Given the description of an element on the screen output the (x, y) to click on. 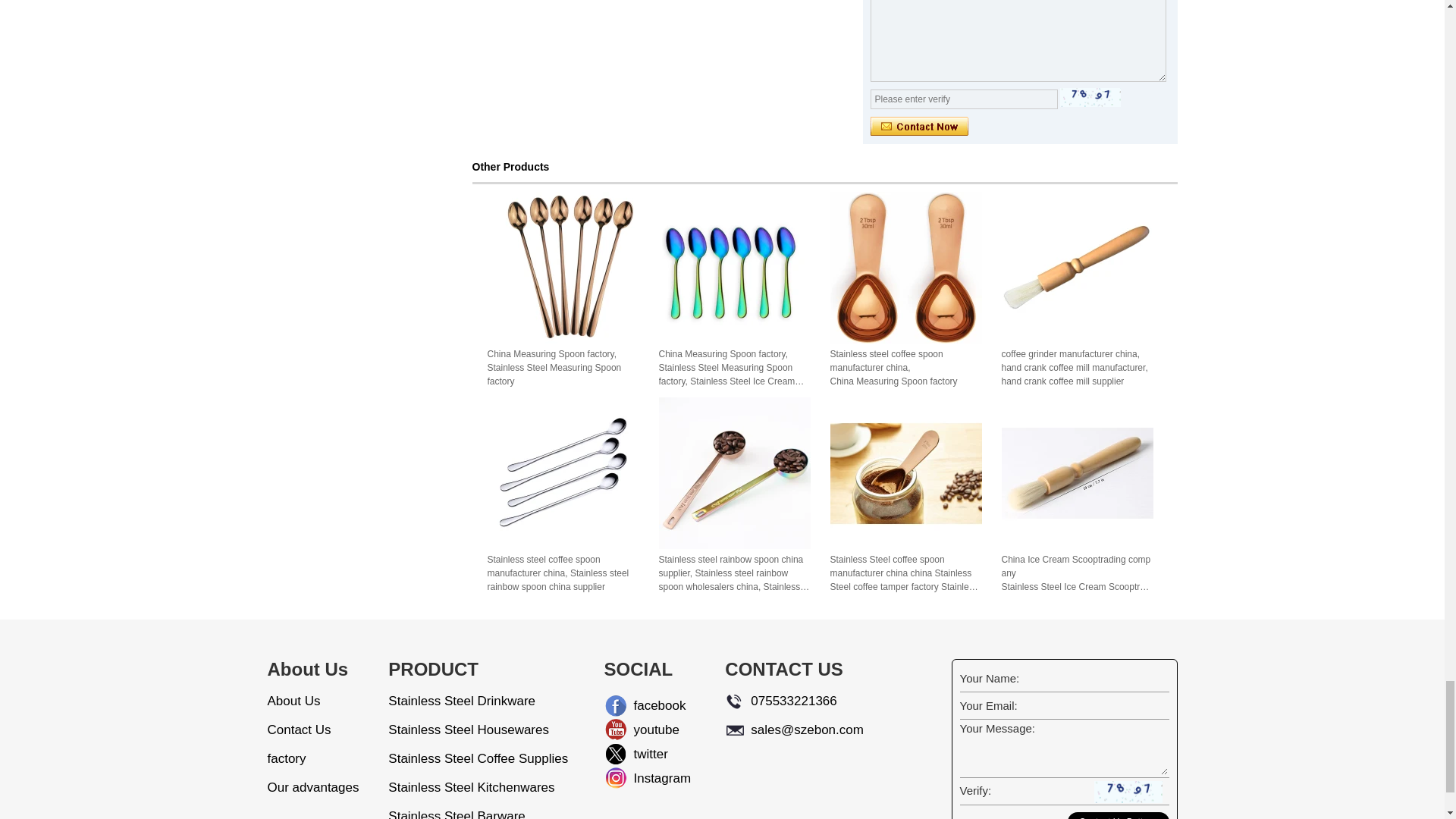
Contact Now (919, 126)
